Given the description of an element on the screen output the (x, y) to click on. 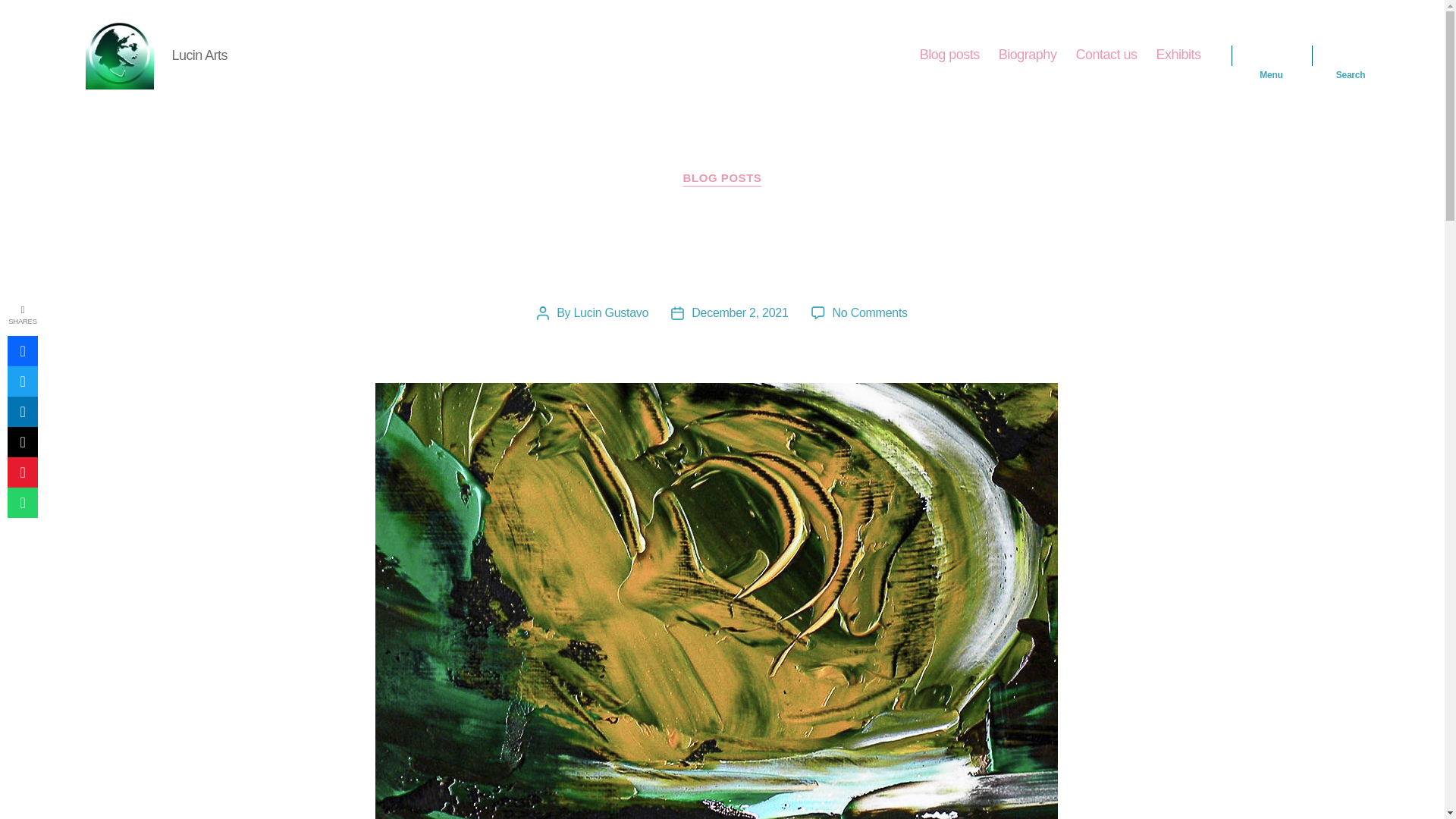
Blog posts (949, 54)
Add this to LinkedIn (22, 411)
Tweet this ! (22, 381)
Search (1350, 55)
Biography (1027, 54)
Share this on Facebook (22, 350)
Lucin Gustavo (610, 312)
Menu (1271, 55)
Exhibits (1177, 54)
No Comments (869, 312)
BLOG POSTS (721, 178)
Email this  (22, 441)
Contact us (1106, 54)
Convert to PDF (22, 472)
December 2, 2021 (739, 312)
